Given the description of an element on the screen output the (x, y) to click on. 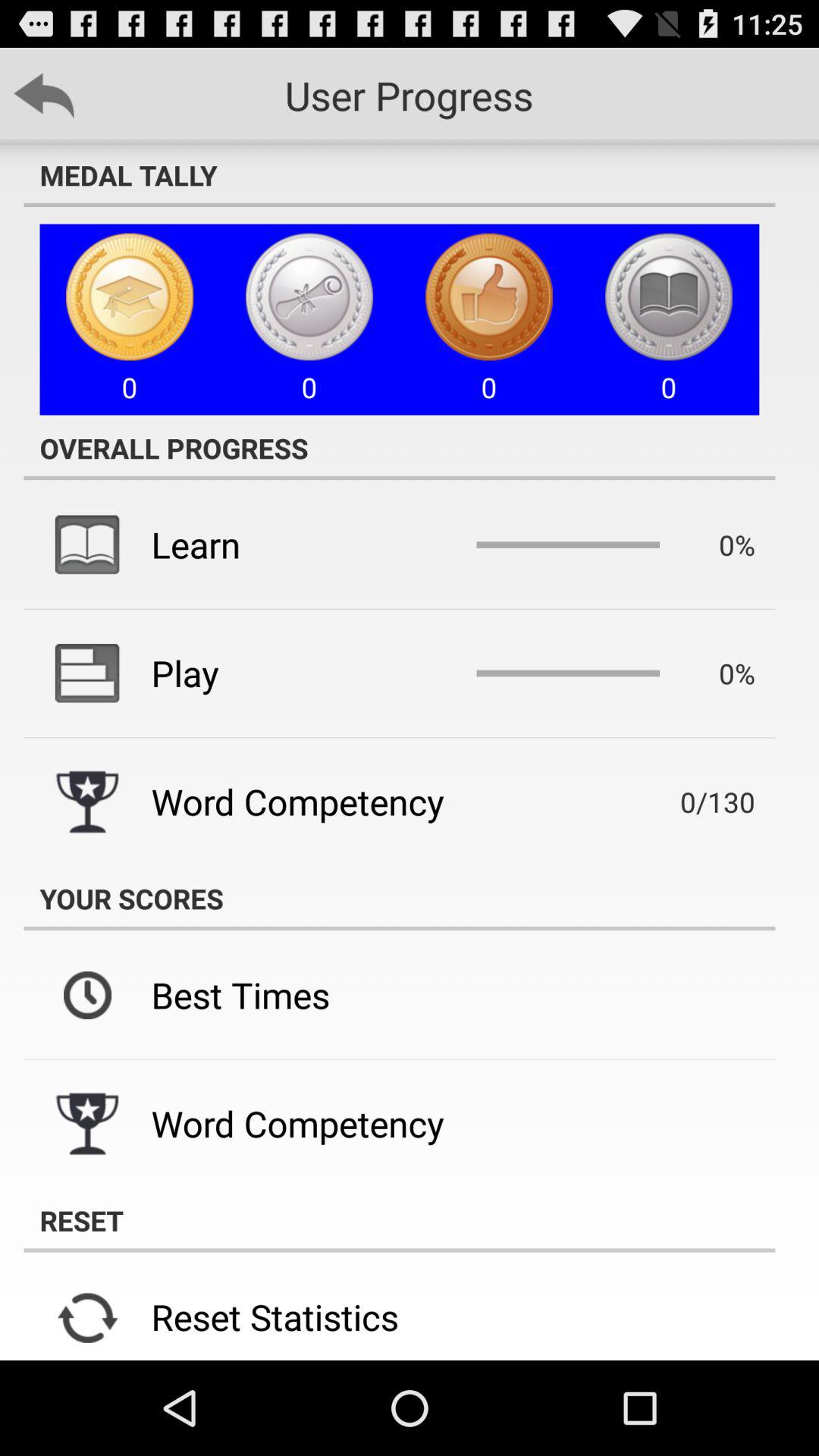
turn on play item (184, 672)
